Given the description of an element on the screen output the (x, y) to click on. 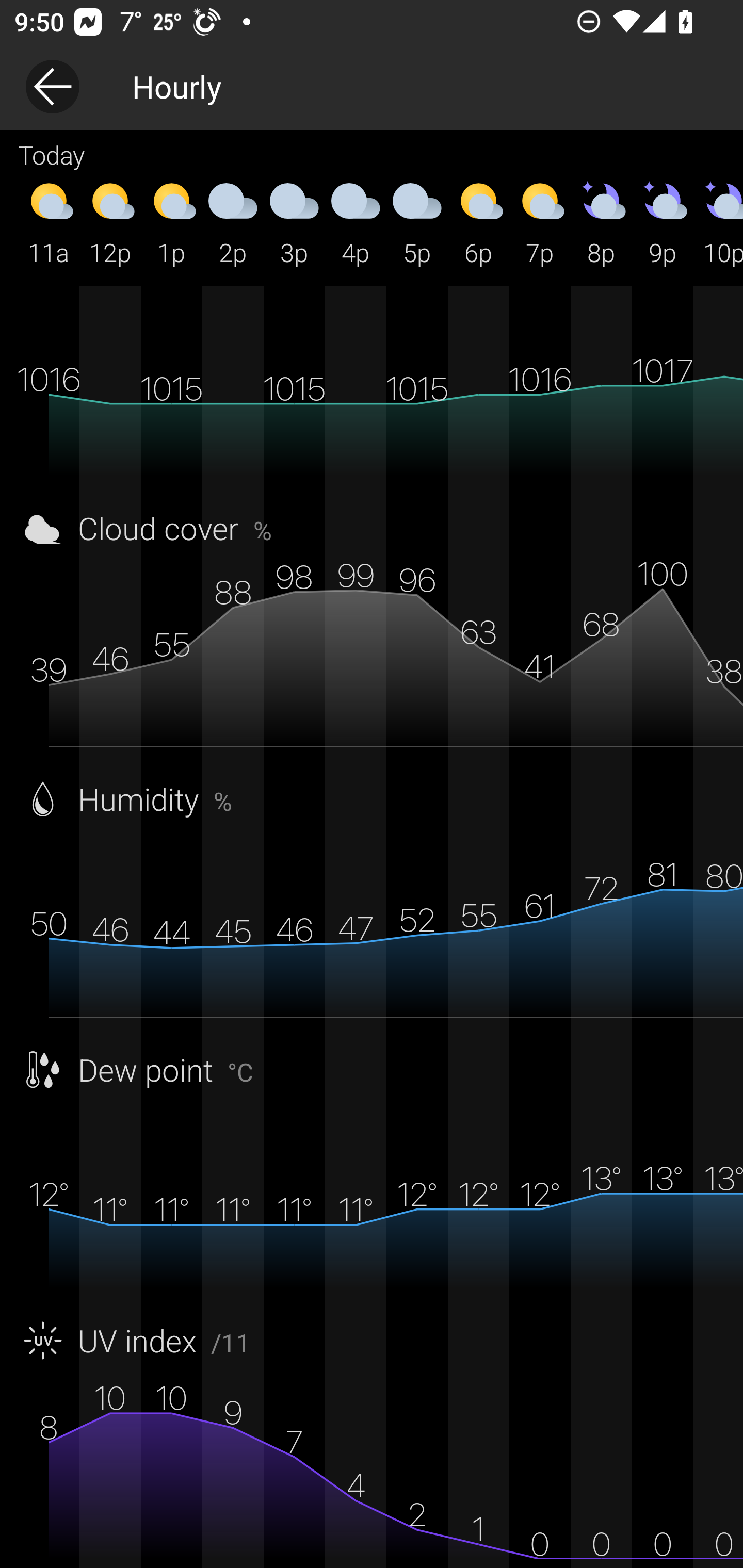
11a (48, 222)
12p (110, 222)
1p (171, 222)
2p (232, 222)
3p (294, 222)
4p (355, 222)
5p (417, 222)
6p (478, 222)
7p (539, 222)
8p (601, 222)
9p (662, 222)
10p (718, 222)
